Given the description of an element on the screen output the (x, y) to click on. 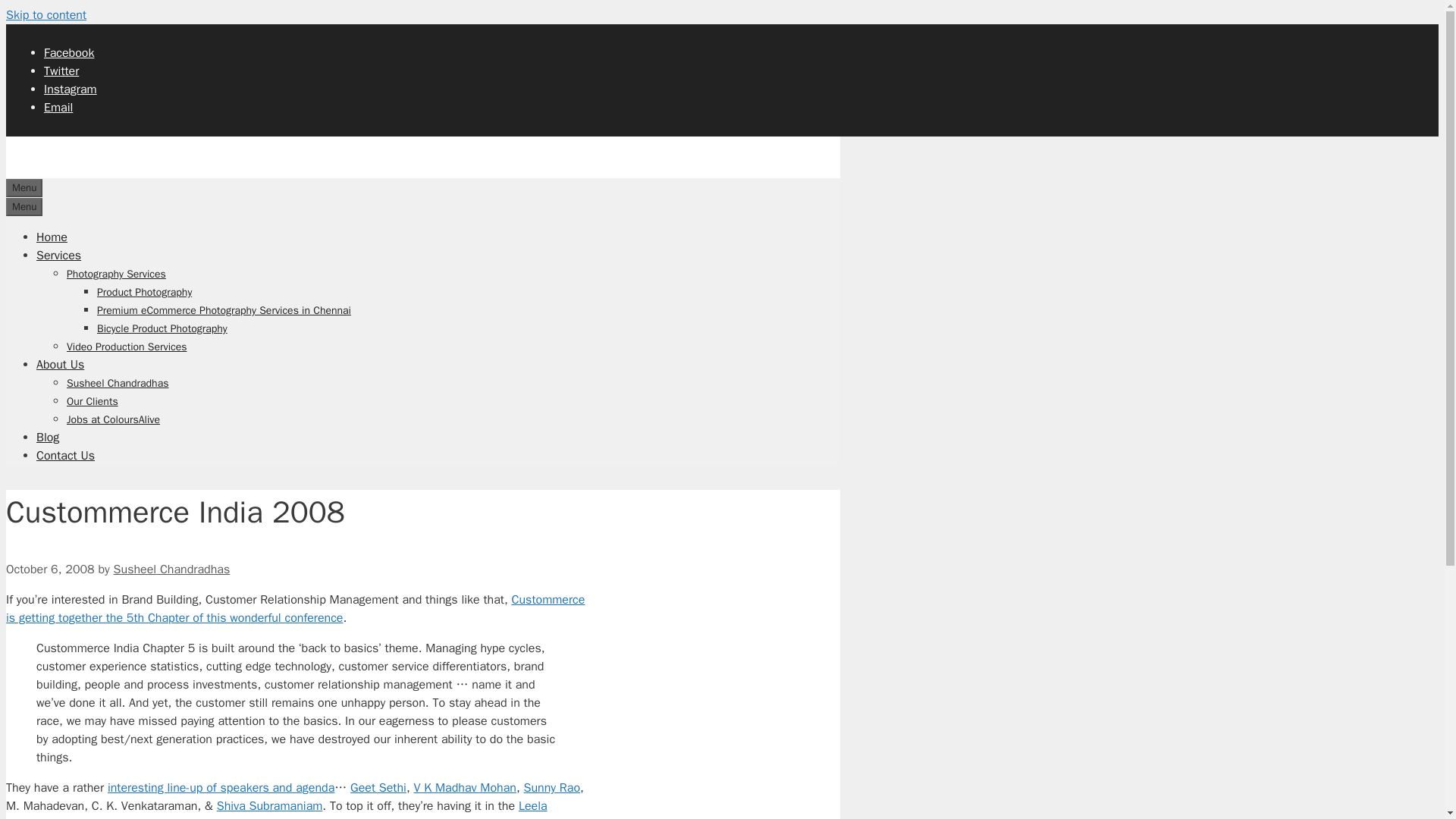
Blog (47, 437)
Contact Us (65, 455)
View all posts by Susheel Chandradhas (171, 569)
Services (58, 255)
Susheel Chandradhas (117, 382)
Geet Sethi (378, 787)
V K Madhav Mohan (464, 787)
Jobs at ColoursAlive (113, 419)
Custommerce 2008 Chapter 5 (295, 608)
Twitter (60, 70)
Skip to content (45, 14)
Sunny Rao (551, 787)
Menu (23, 207)
Menu (23, 188)
